Given the description of an element on the screen output the (x, y) to click on. 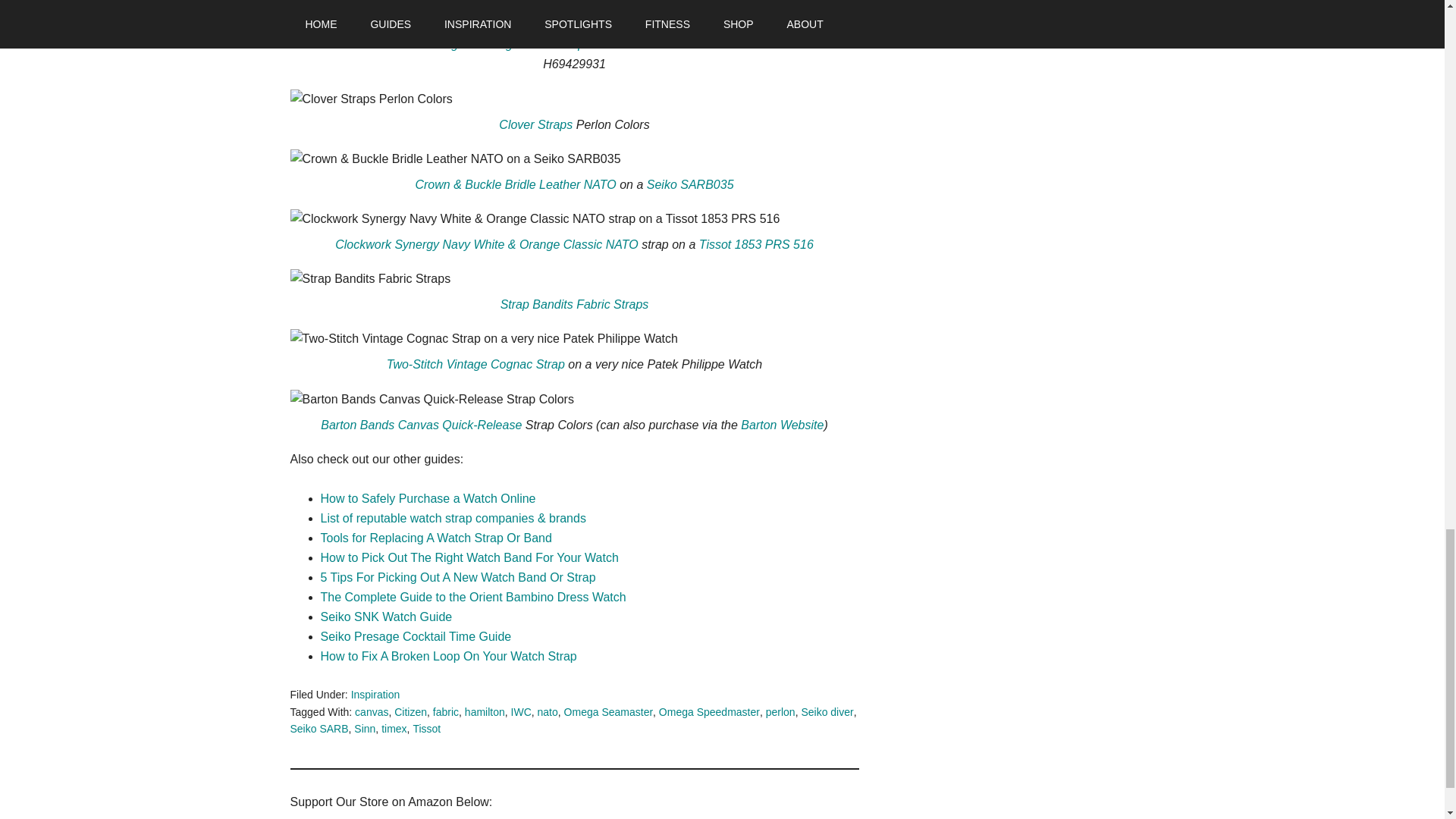
Barton Bands Canvas Quick-Release (420, 424)
Tissot 1853 PRS 516 (755, 244)
Strap Bandits Fabric Straps (574, 304)
Watch Gecko Brown Kington Vintage Dress strap (452, 43)
Clover Straps (535, 124)
Seiko SARB035 (689, 184)
Barton Website (782, 424)
Hamilton Khaki Field Mechanical (702, 43)
Two-Stitch Vintage Cognac Strap (475, 364)
